Given the description of an element on the screen output the (x, y) to click on. 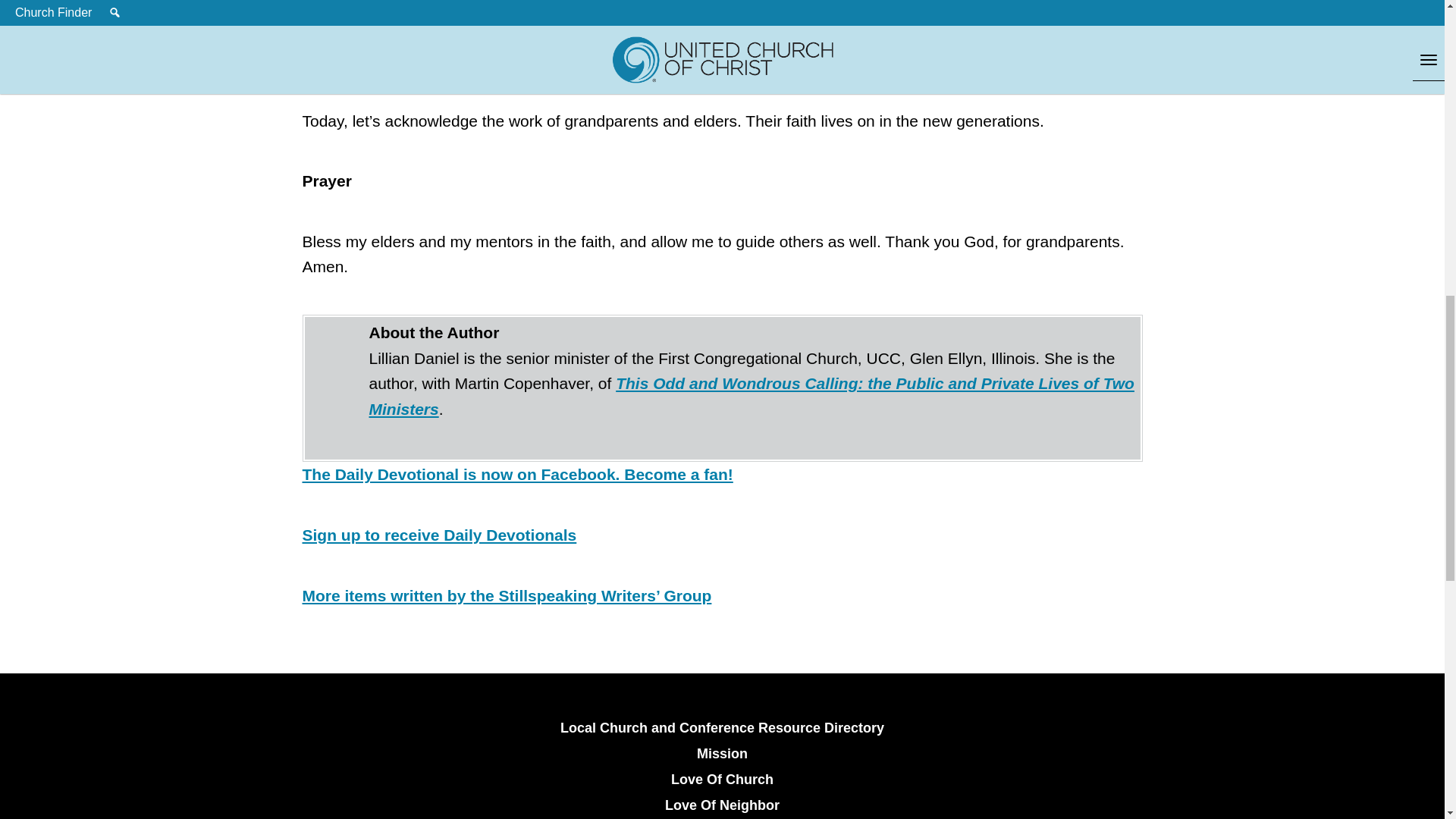
Two odd and wondrous calling (751, 395)
